Given the description of an element on the screen output the (x, y) to click on. 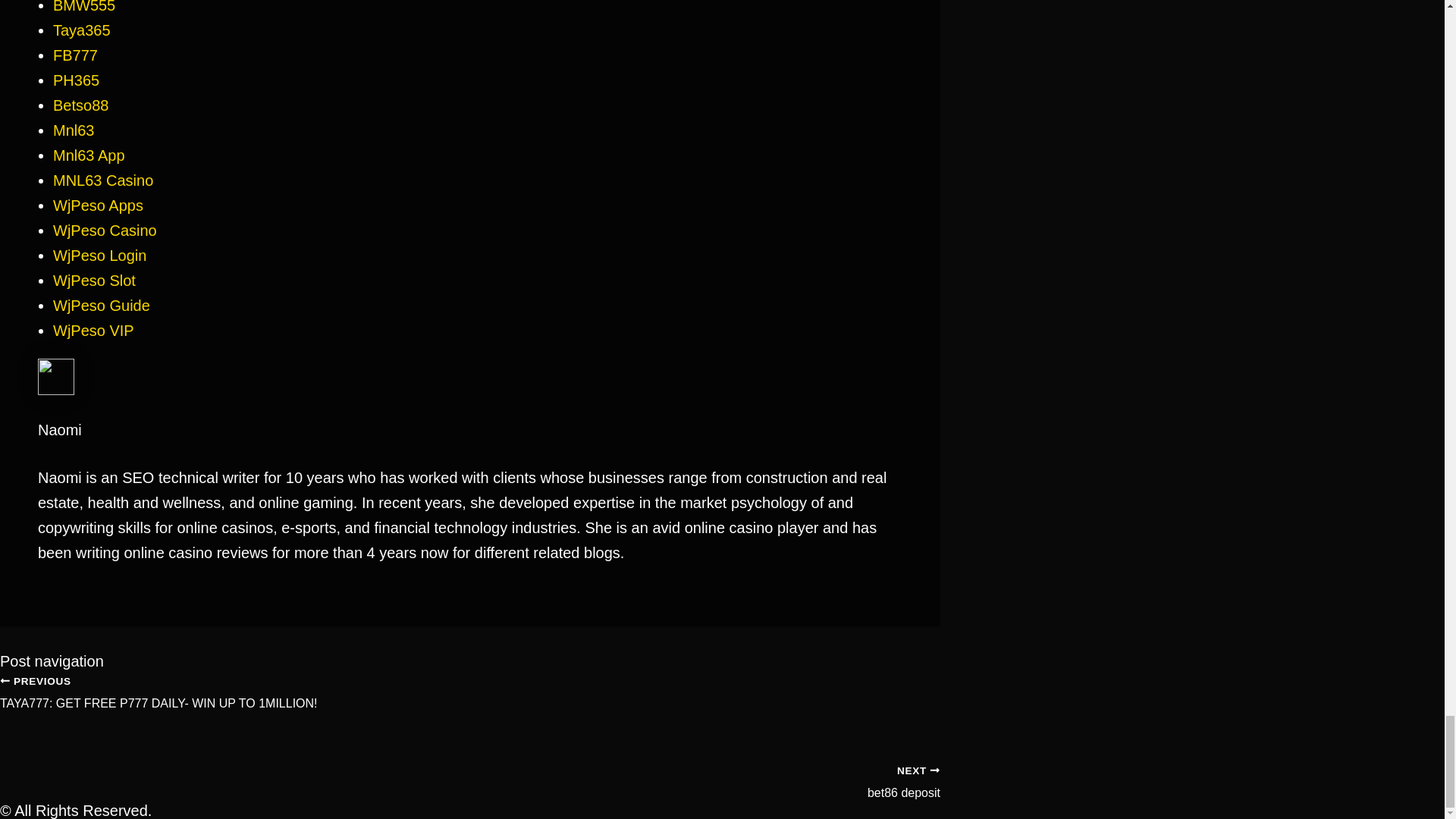
bet86 deposit (470, 774)
TAYA777: GET FREE P777 DAILY- WIN UP TO 1MILLION! (470, 703)
